Given the description of an element on the screen output the (x, y) to click on. 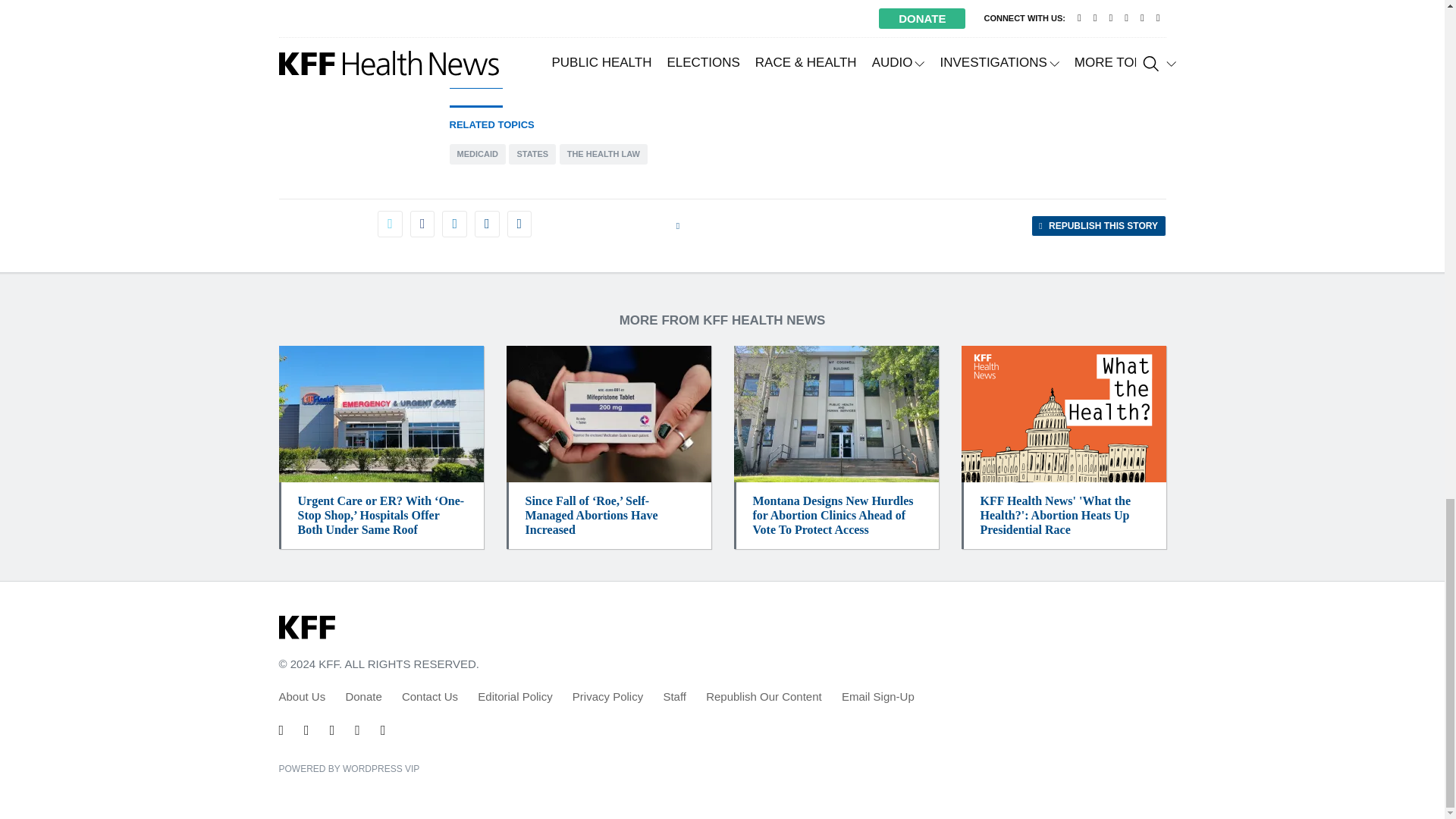
Click to share (1098, 225)
KFF (306, 627)
